Given the description of an element on the screen output the (x, y) to click on. 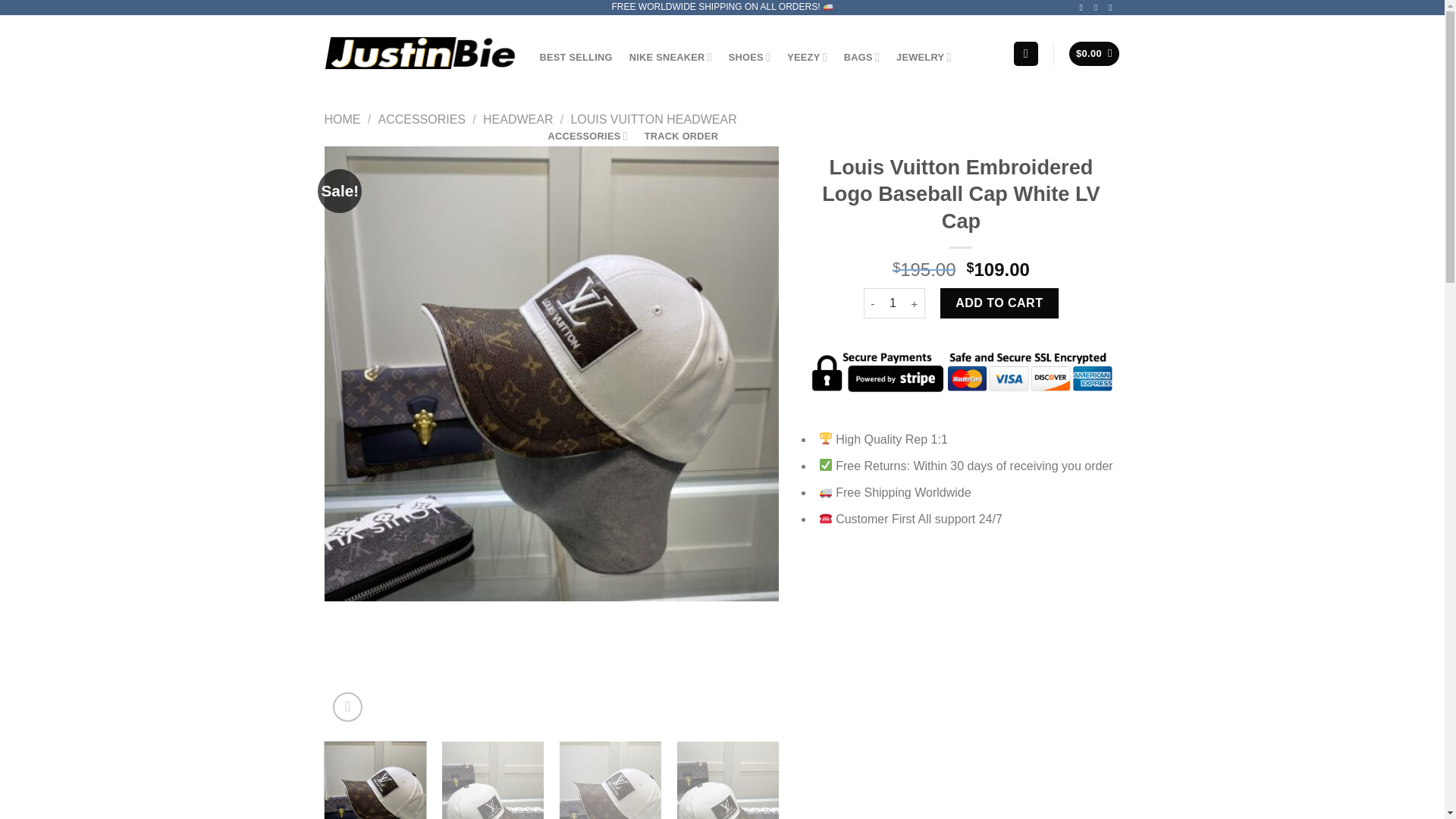
BEST SELLING (576, 57)
JustinBie Lux - Top Quality Replica Store (420, 52)
NIKE SNEAKER (669, 57)
Zoom (347, 706)
Cart (1093, 53)
